Given the description of an element on the screen output the (x, y) to click on. 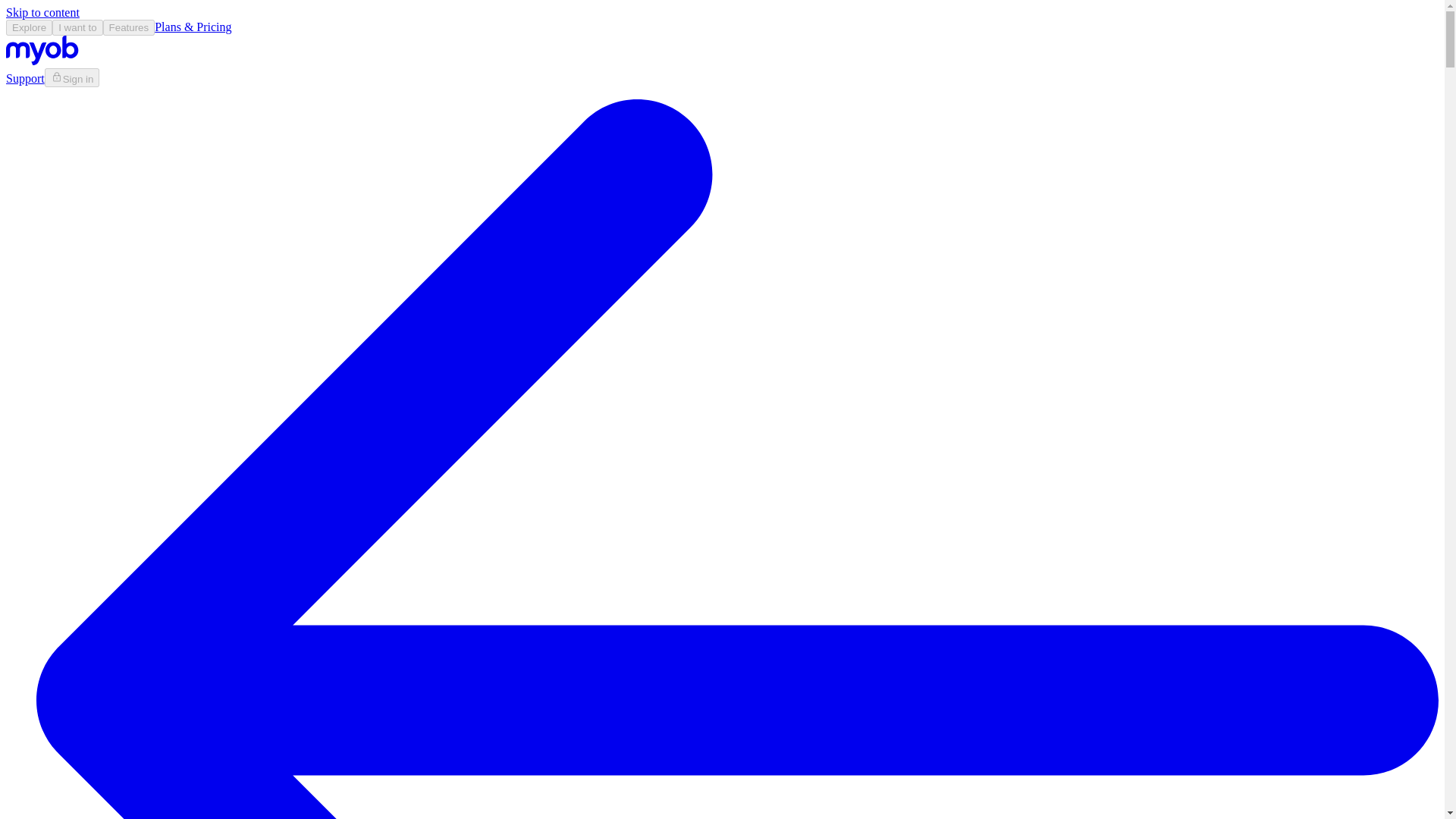
Sign in (72, 76)
MYOB (41, 60)
Explore (28, 27)
MYOB (41, 50)
Support (25, 78)
Skip to content (42, 11)
I want to (76, 27)
Features (129, 27)
